Given the description of an element on the screen output the (x, y) to click on. 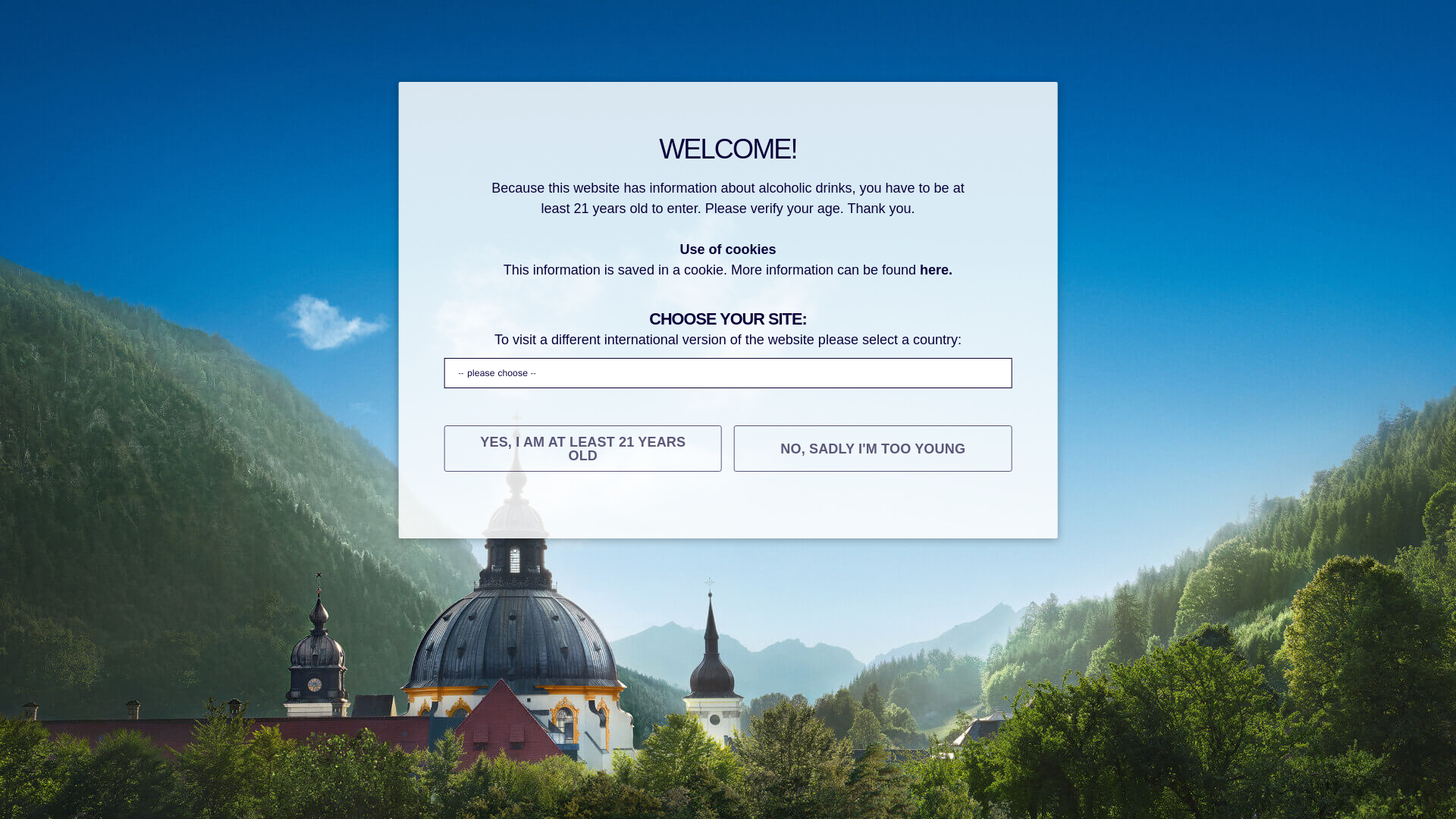
here. (936, 269)
SHOP (1103, 515)
OUR HISTORY (377, 515)
LIFE AT THE MONASTERY (637, 515)
OUR BEERS (487, 515)
NO, SADLY I'M TOO YOUNG (872, 448)
EXPERIENCE THE GOOD LIFE (840, 515)
YES, I AM AT LEAST 21 YEARS OLD (583, 448)
COMMITMENT (1009, 515)
